Given the description of an element on the screen output the (x, y) to click on. 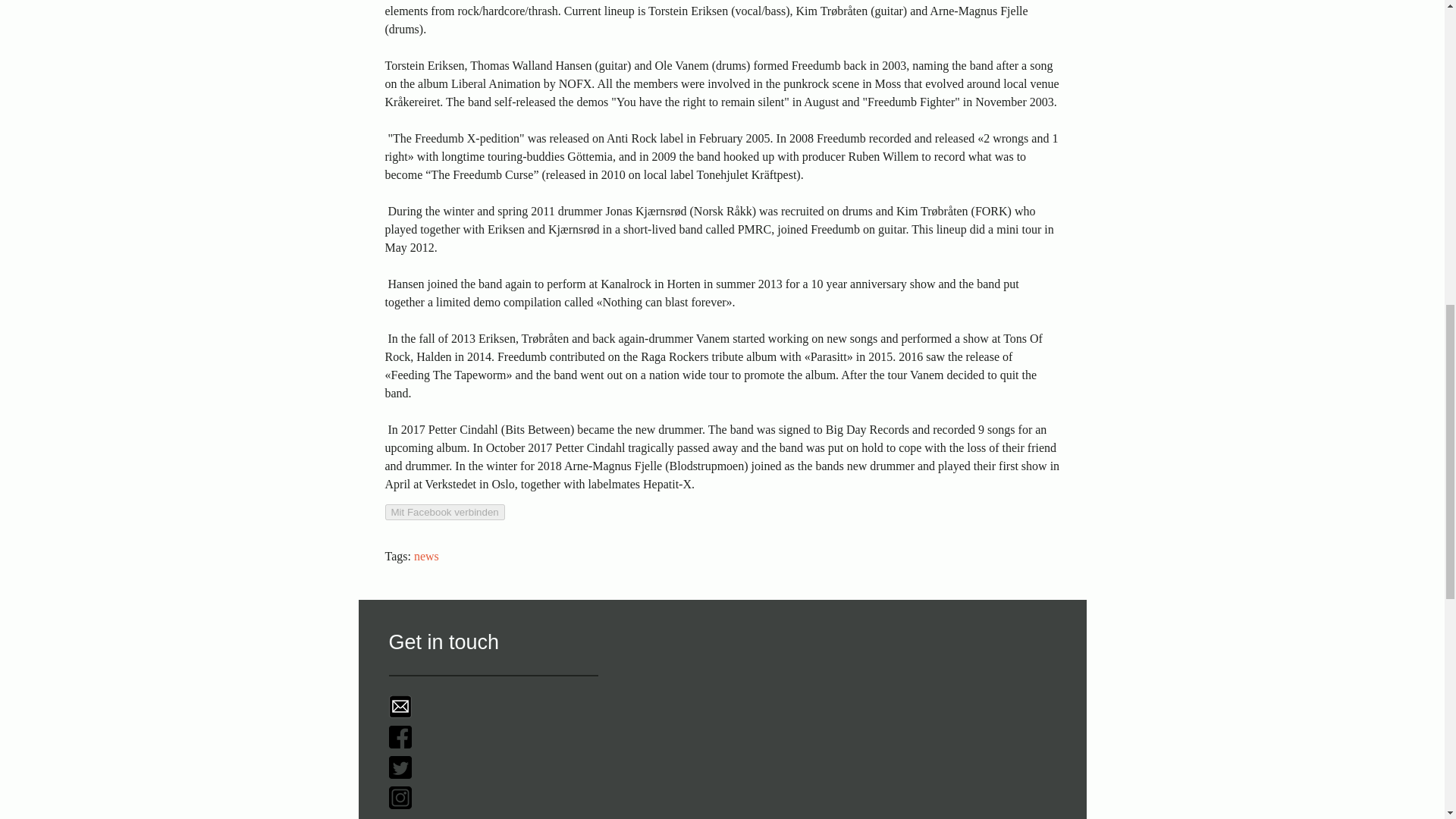
Mit Facebook verbinden (445, 512)
news (426, 555)
